Given the description of an element on the screen output the (x, y) to click on. 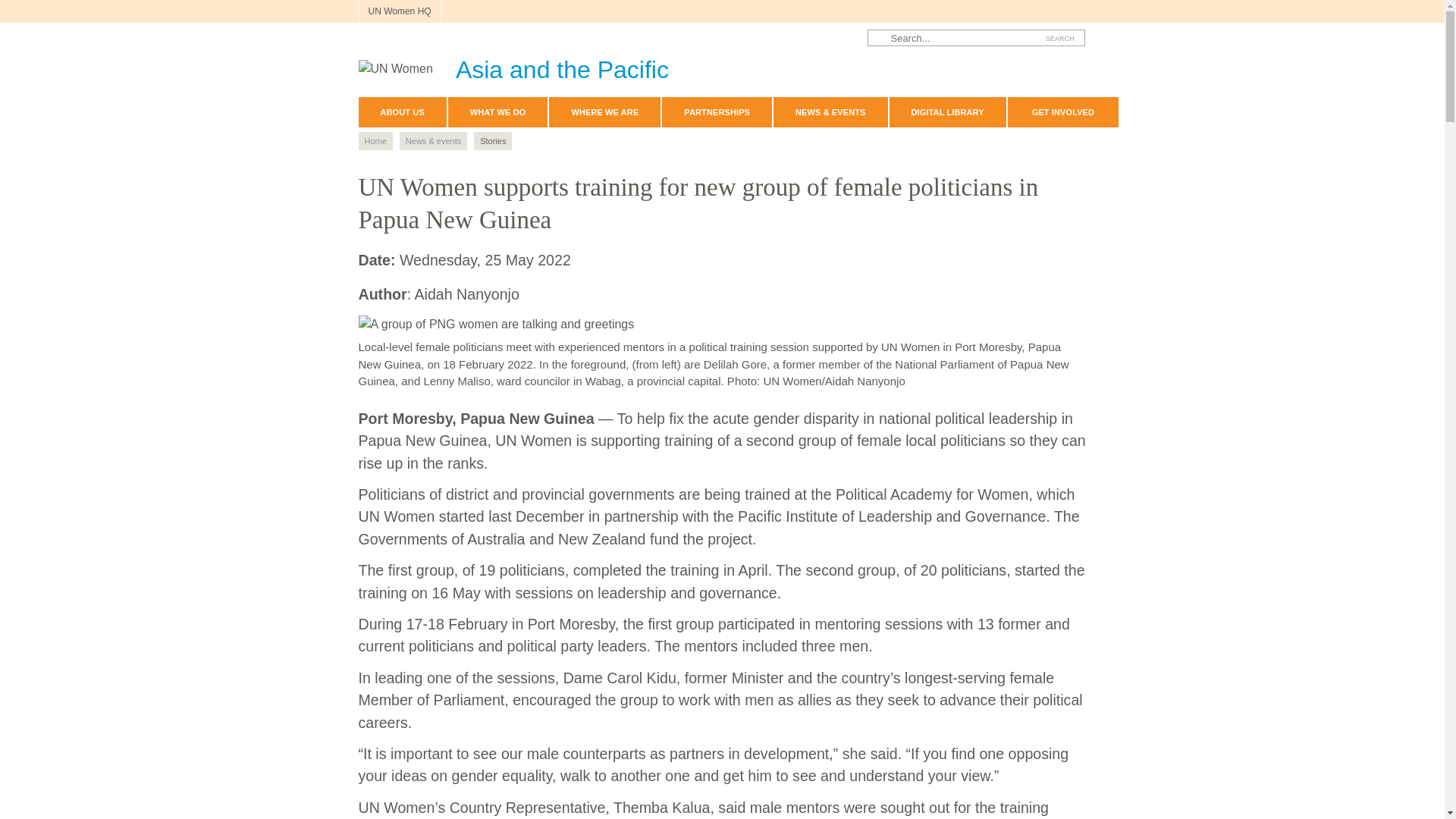
Asia and the Pacific (513, 65)
UN Women (513, 65)
ABOUT US (401, 112)
Search (1060, 38)
UN Women HQ (399, 11)
Search (1060, 38)
WHAT WE DO (498, 112)
